Given the description of an element on the screen output the (x, y) to click on. 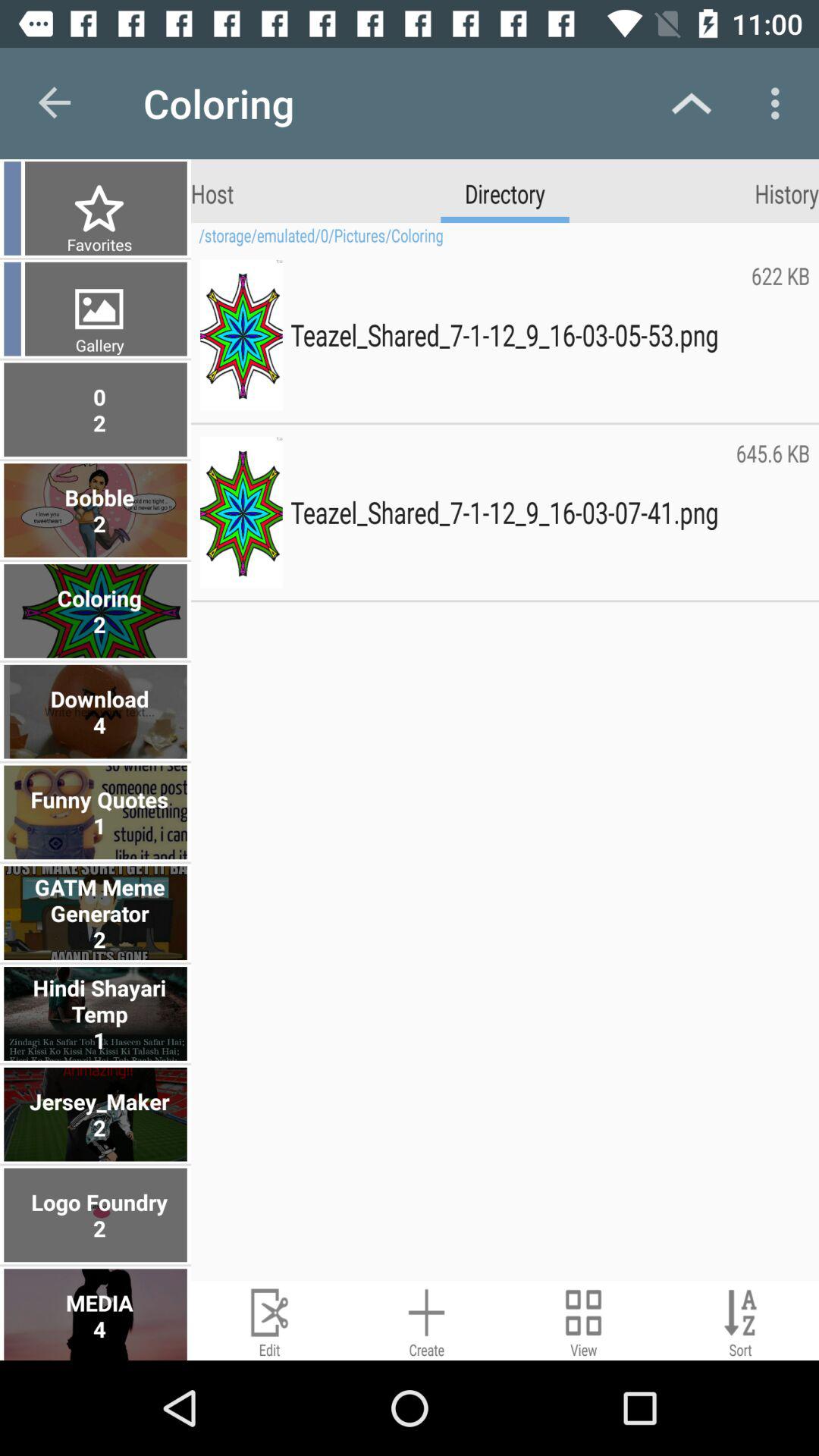
launch the item below the coloring item (212, 193)
